Given the description of an element on the screen output the (x, y) to click on. 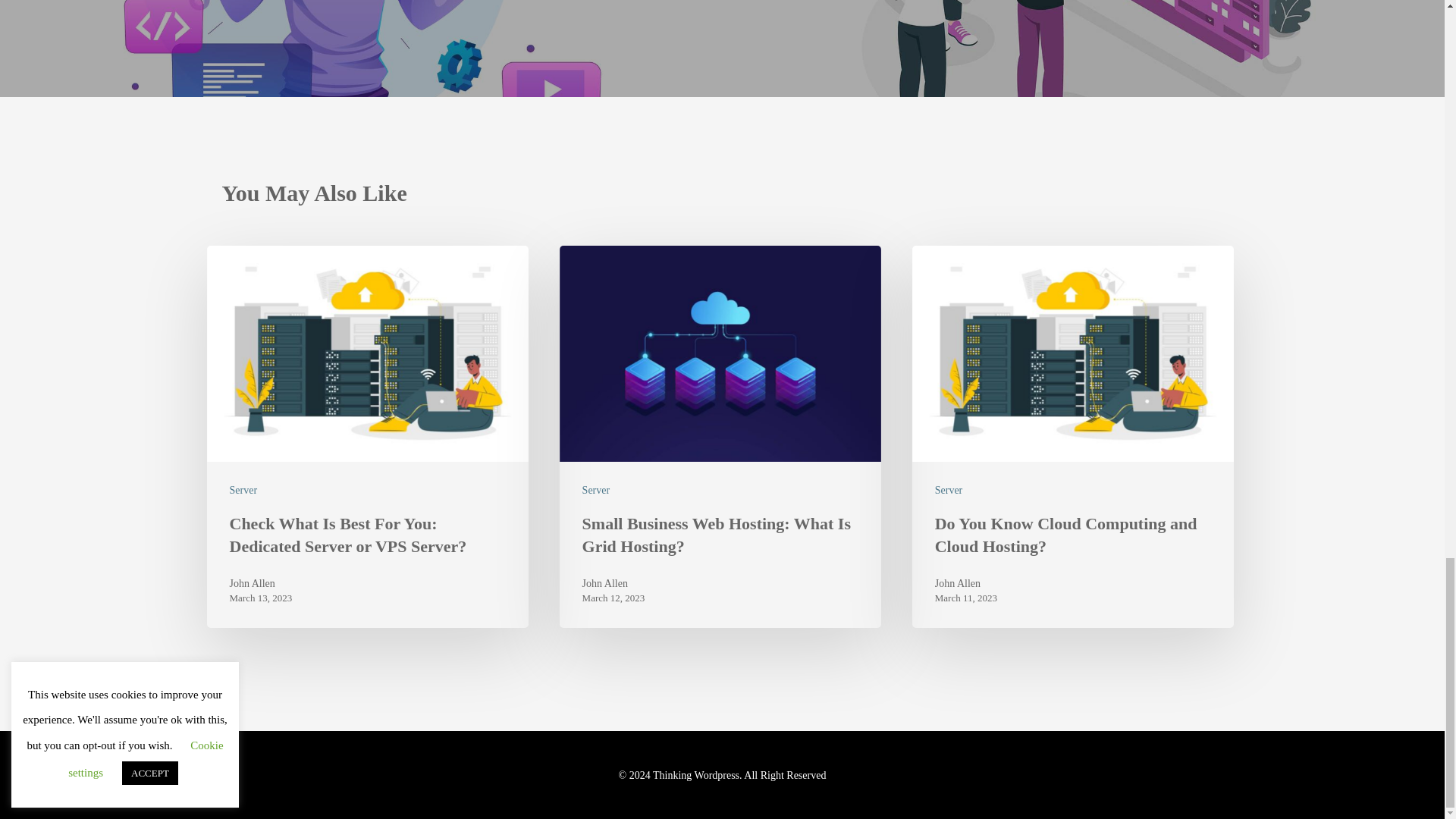
Server (596, 490)
John Allen (613, 583)
Server (948, 490)
John Allen (965, 583)
John Allen (260, 583)
Server (242, 490)
